Given the description of an element on the screen output the (x, y) to click on. 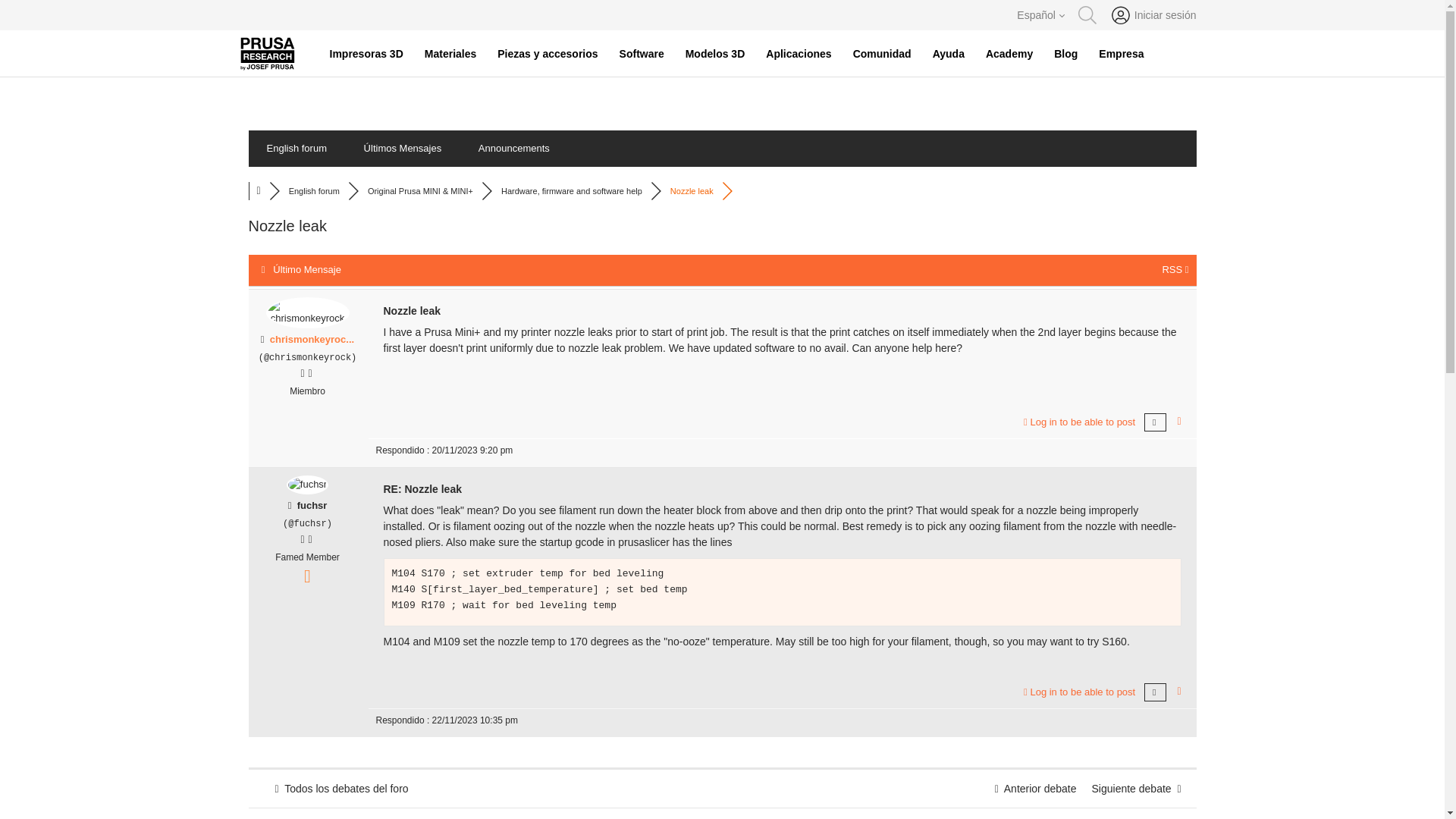
Software (641, 53)
fuchsr (312, 505)
Announcements (513, 148)
English forum (296, 148)
RSS del Tema (1174, 269)
English forum (313, 190)
Modelos 3D (715, 53)
Rating Title (307, 557)
English forum (313, 190)
Hardware, firmware and software help (571, 190)
